Given the description of an element on the screen output the (x, y) to click on. 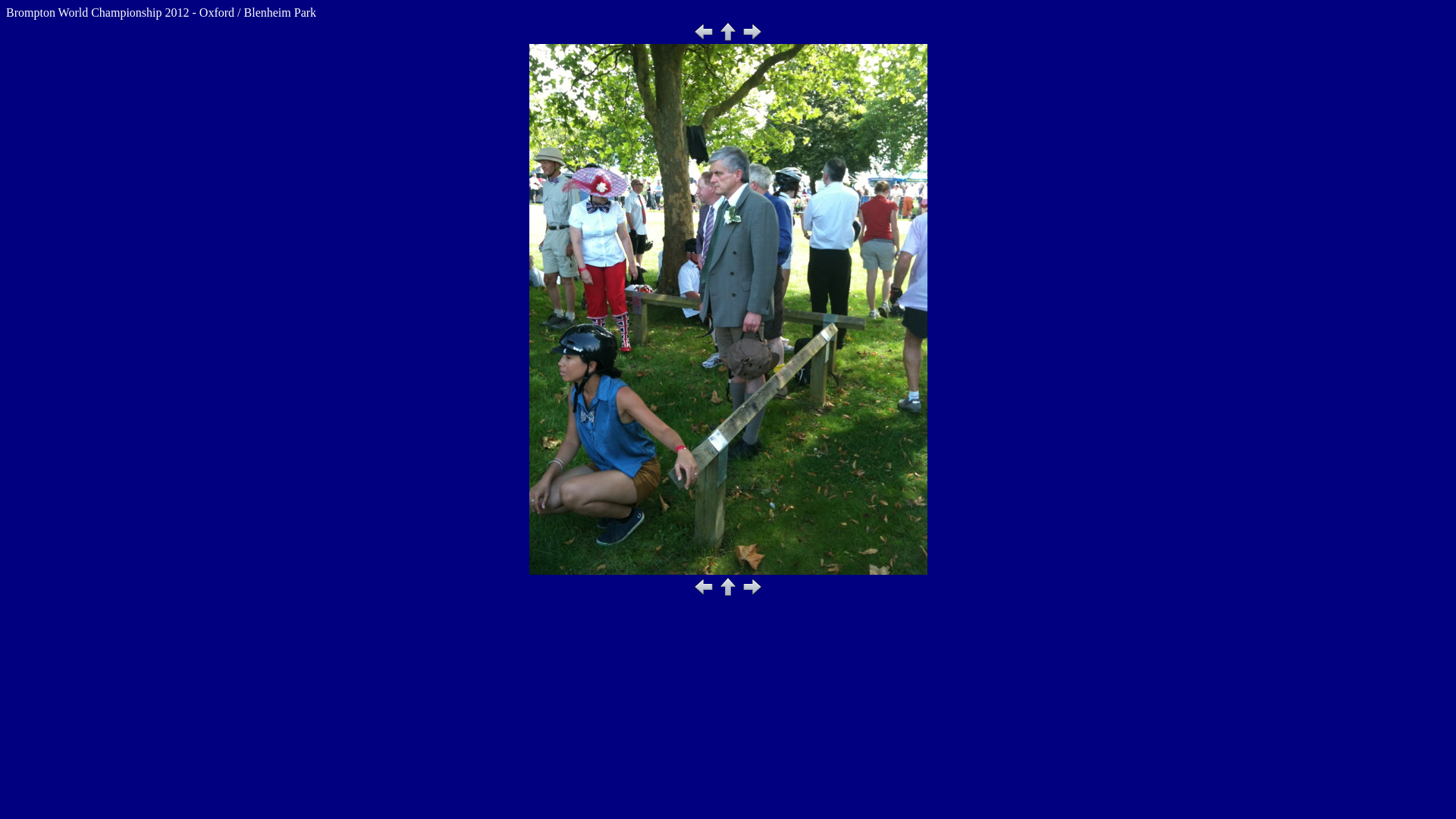
Click on image to return to index Element type: hover (728, 308)
